Given the description of an element on the screen output the (x, y) to click on. 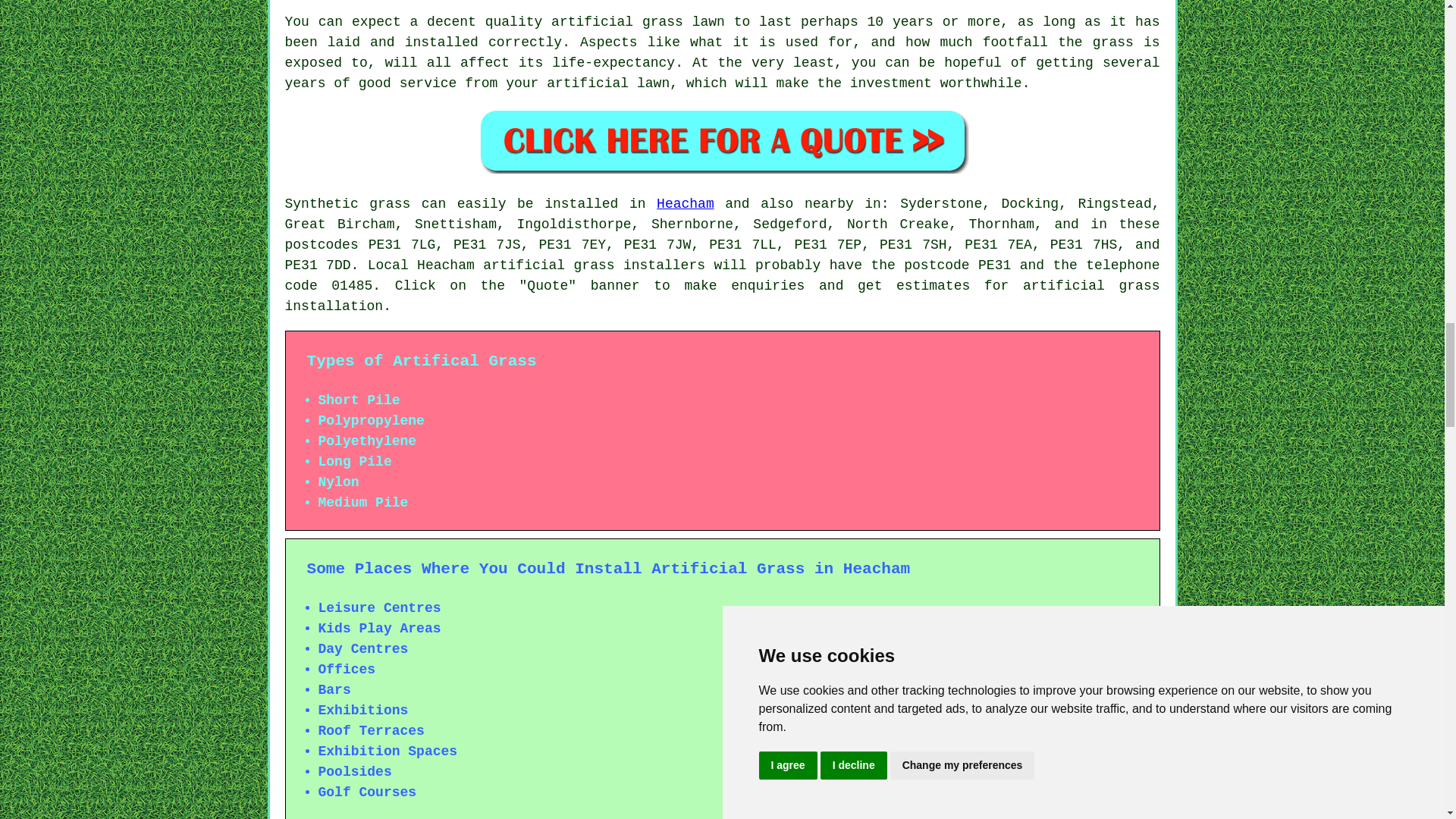
artificial grass installation (722, 295)
artificial grass installers (593, 264)
Synthetic grass (347, 203)
Artificial Grass Installer Quotes in Heacham Norfolk (722, 140)
